Given the description of an element on the screen output the (x, y) to click on. 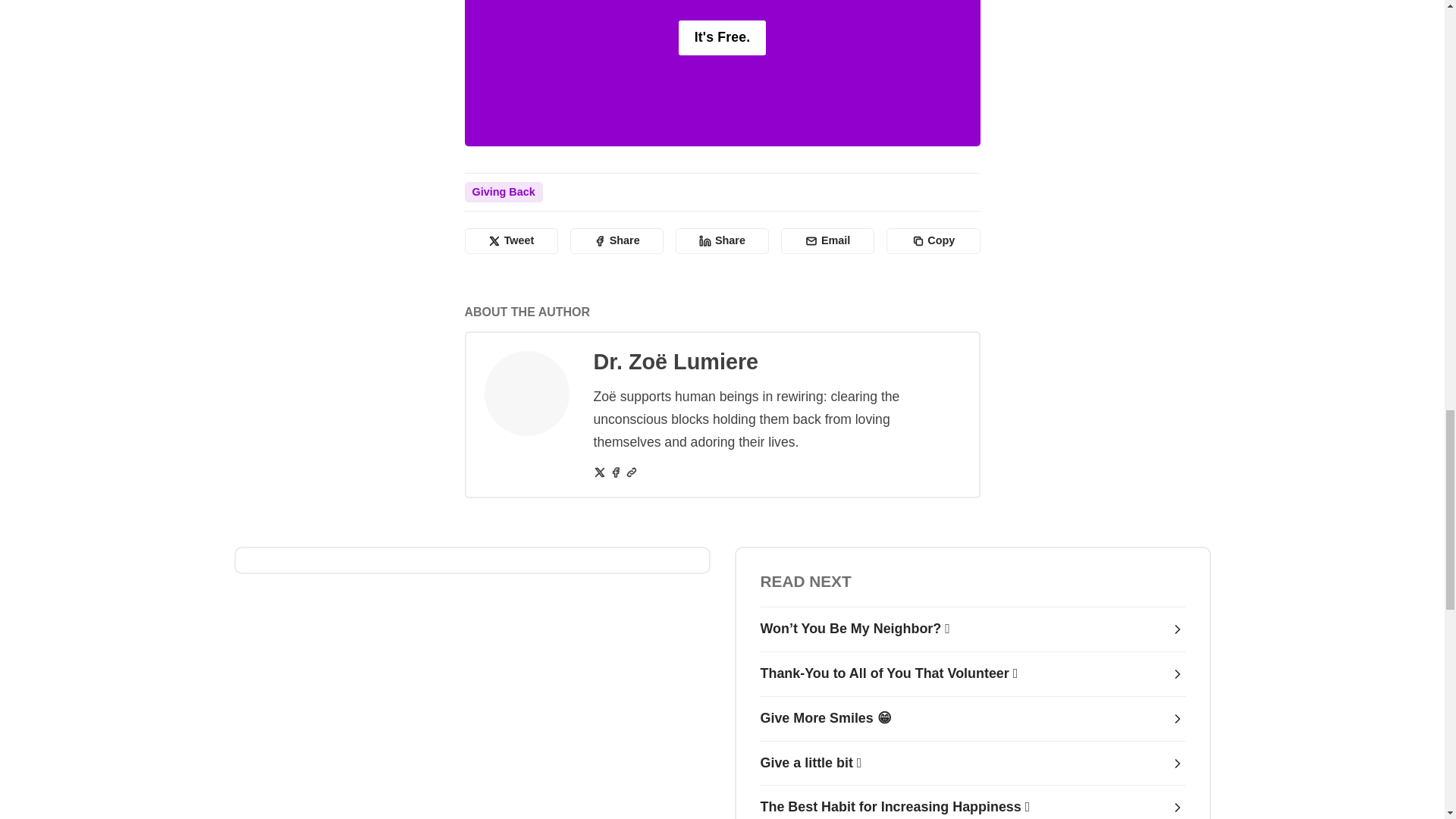
Share on Linkedin (721, 240)
Share on Twitter (510, 240)
Website (630, 472)
Share by email (827, 240)
It's Free. (722, 37)
Facebook (615, 472)
Copy to clipboard (932, 240)
Share on Facebook (616, 240)
Twitter (598, 472)
